Given the description of an element on the screen output the (x, y) to click on. 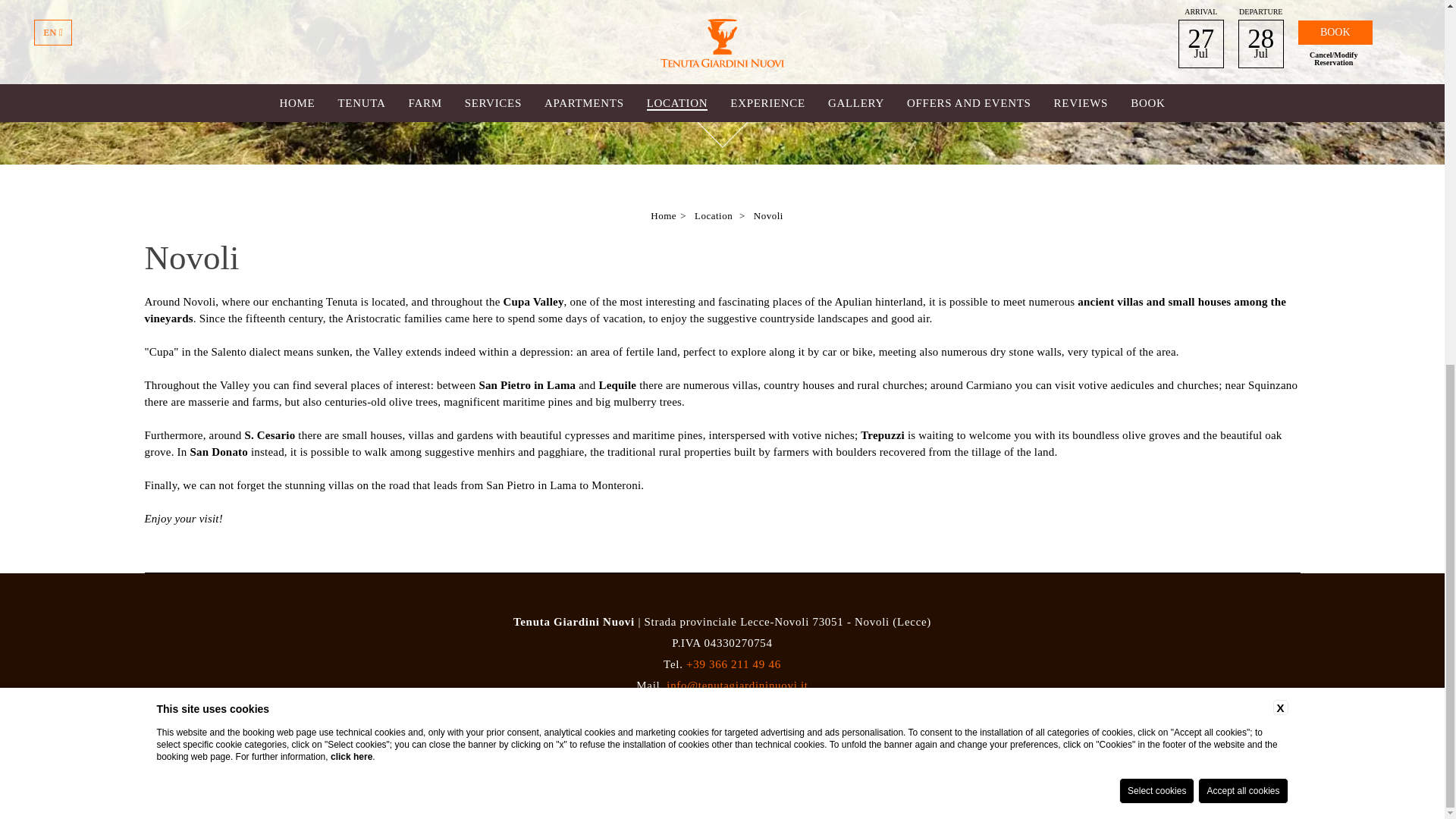
Accept all cookies (1242, 136)
Home (663, 215)
COOKIE (845, 717)
COMPANY DATA (699, 717)
Novoli (768, 215)
Location (713, 215)
CONTACTS (608, 717)
Select cookies (1156, 136)
PRIVACY (785, 717)
